Given the description of an element on the screen output the (x, y) to click on. 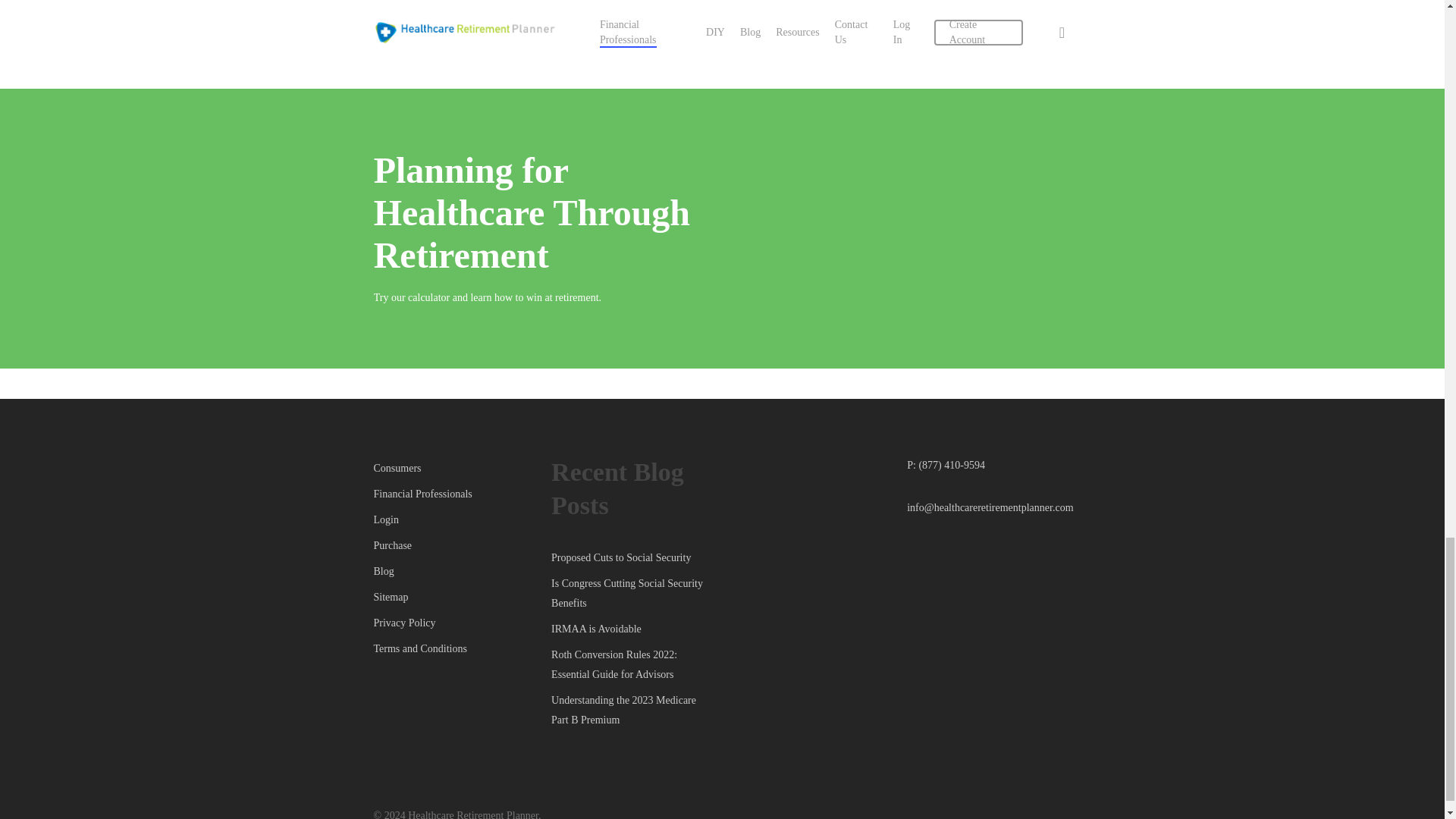
Is Congress Cutting Social Security Benefits (632, 593)
Proposed Cuts to Social Security (632, 557)
Blog (454, 571)
Understanding the 2023 Medicare Part B Premium (632, 710)
Sitemap (454, 597)
Privacy Policy (454, 623)
Consumers (454, 468)
IRMAA is Avoidable (632, 629)
Financial Professionals (454, 494)
Login (454, 519)
